Given the description of an element on the screen output the (x, y) to click on. 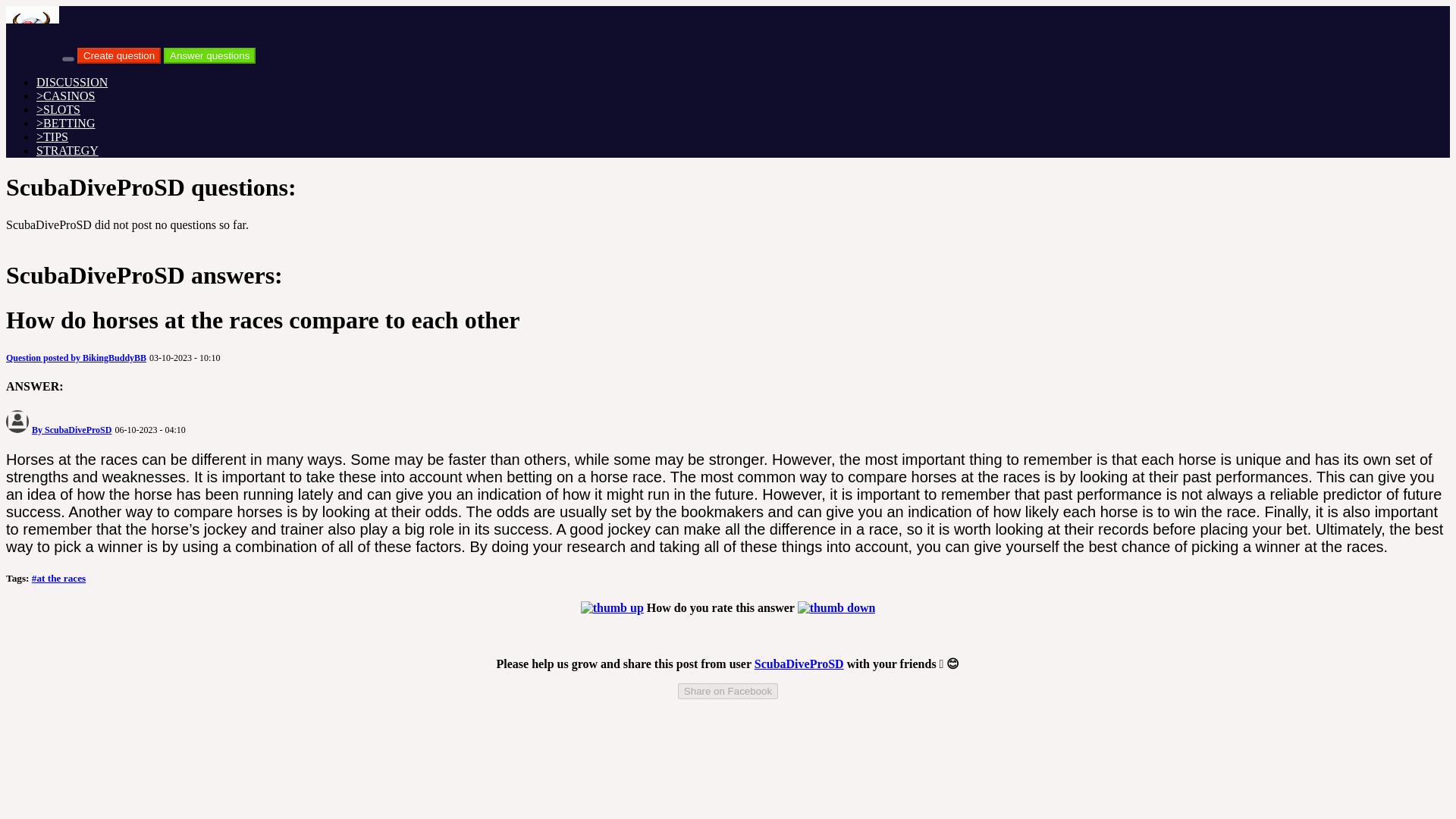
BikingBuddyBB (76, 356)
Like (611, 607)
Question posted by BikingBuddyBB (76, 356)
Answer questions (209, 54)
thumb down (836, 608)
The best online casinos (65, 95)
Free football betting tips (52, 136)
DISCUSSION (71, 82)
Create question (118, 55)
By ScubaDiveProSD (72, 428)
Latest discussion on BullyBet.com (71, 82)
Answer questions (209, 55)
STRATEGY (67, 150)
The best online slot sites (58, 109)
thumb up (611, 608)
